Given the description of an element on the screen output the (x, y) to click on. 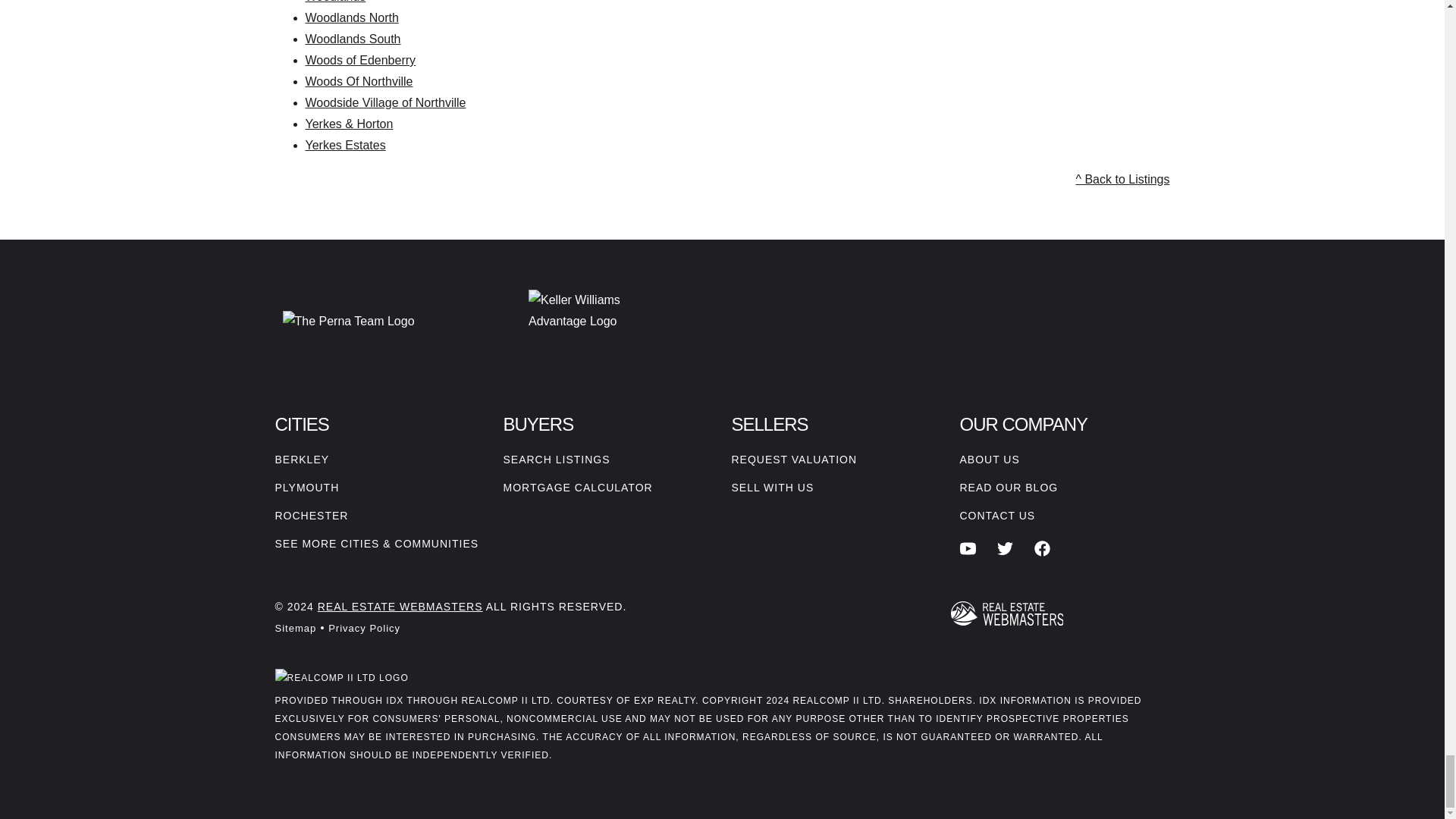
FACEBOOK (1041, 548)
TWITTER (1005, 548)
YOUTUBE (967, 548)
